Given the description of an element on the screen output the (x, y) to click on. 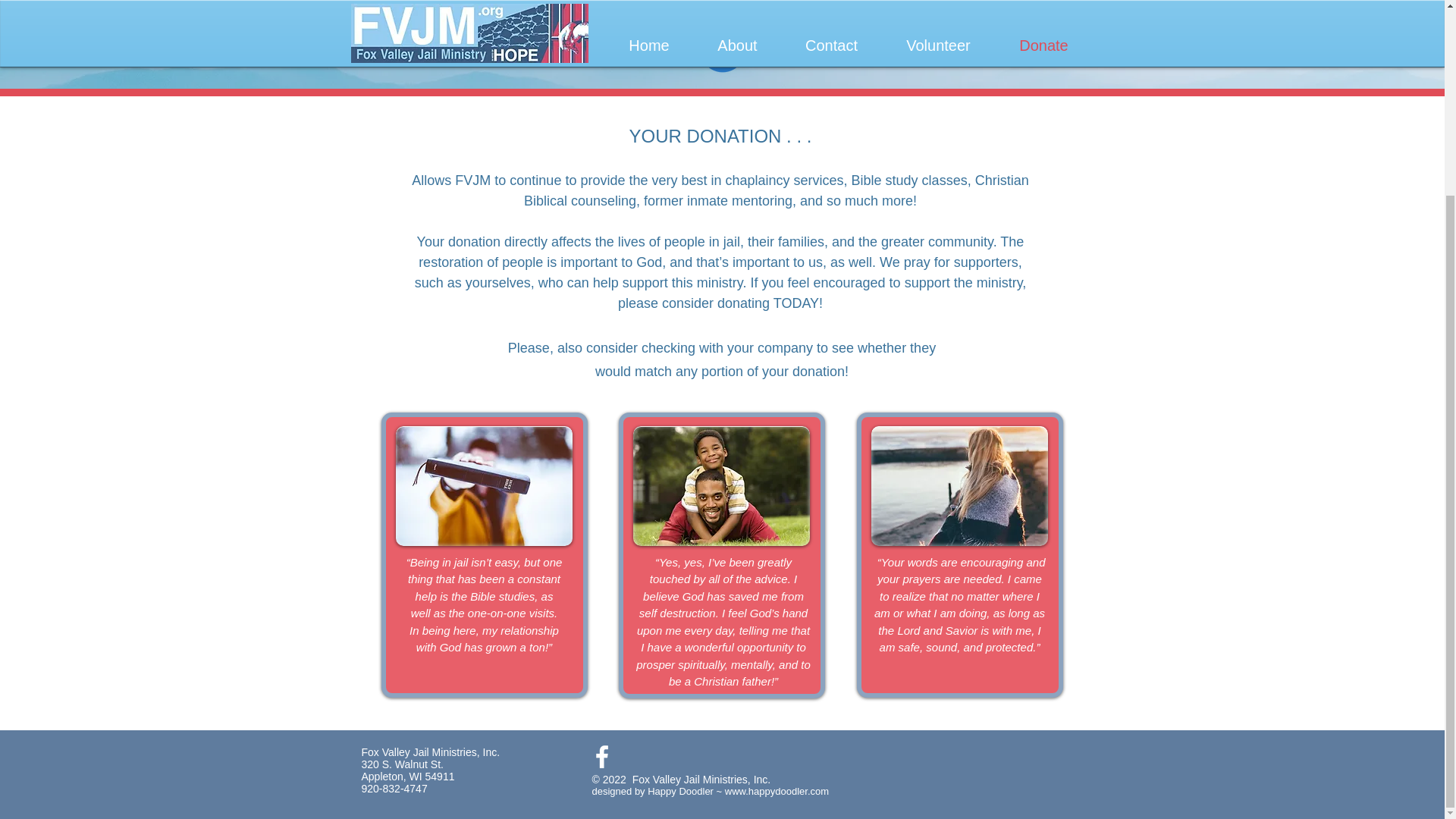
www.happydoodler.com (776, 790)
